Given the description of an element on the screen output the (x, y) to click on. 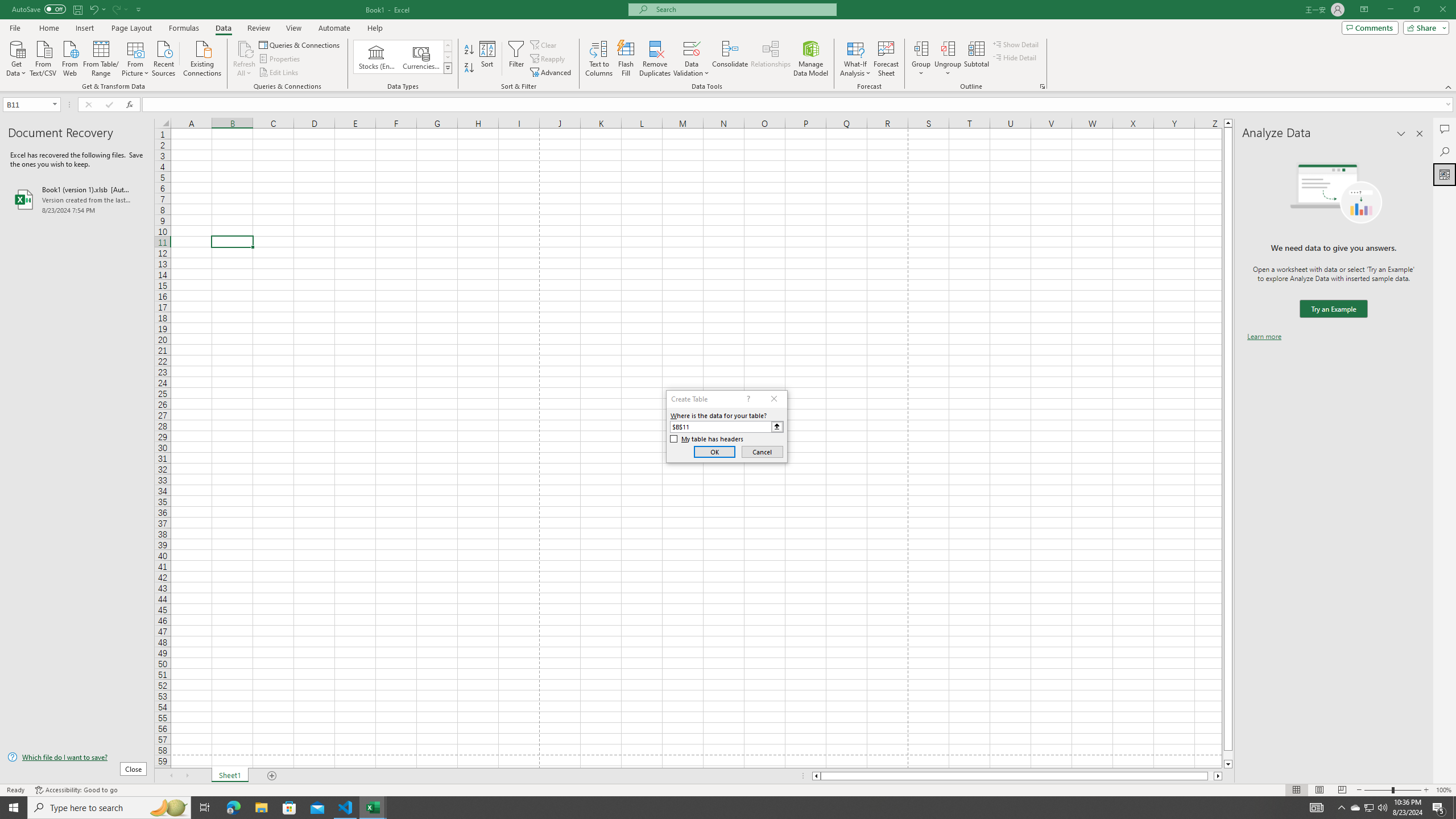
Queries & Connections (300, 44)
Sort... (487, 58)
Search (1444, 151)
Formula Bar (799, 104)
Class: NetUIImage (447, 68)
Learn more (1264, 336)
Text to Columns... (598, 58)
